Given the description of an element on the screen output the (x, y) to click on. 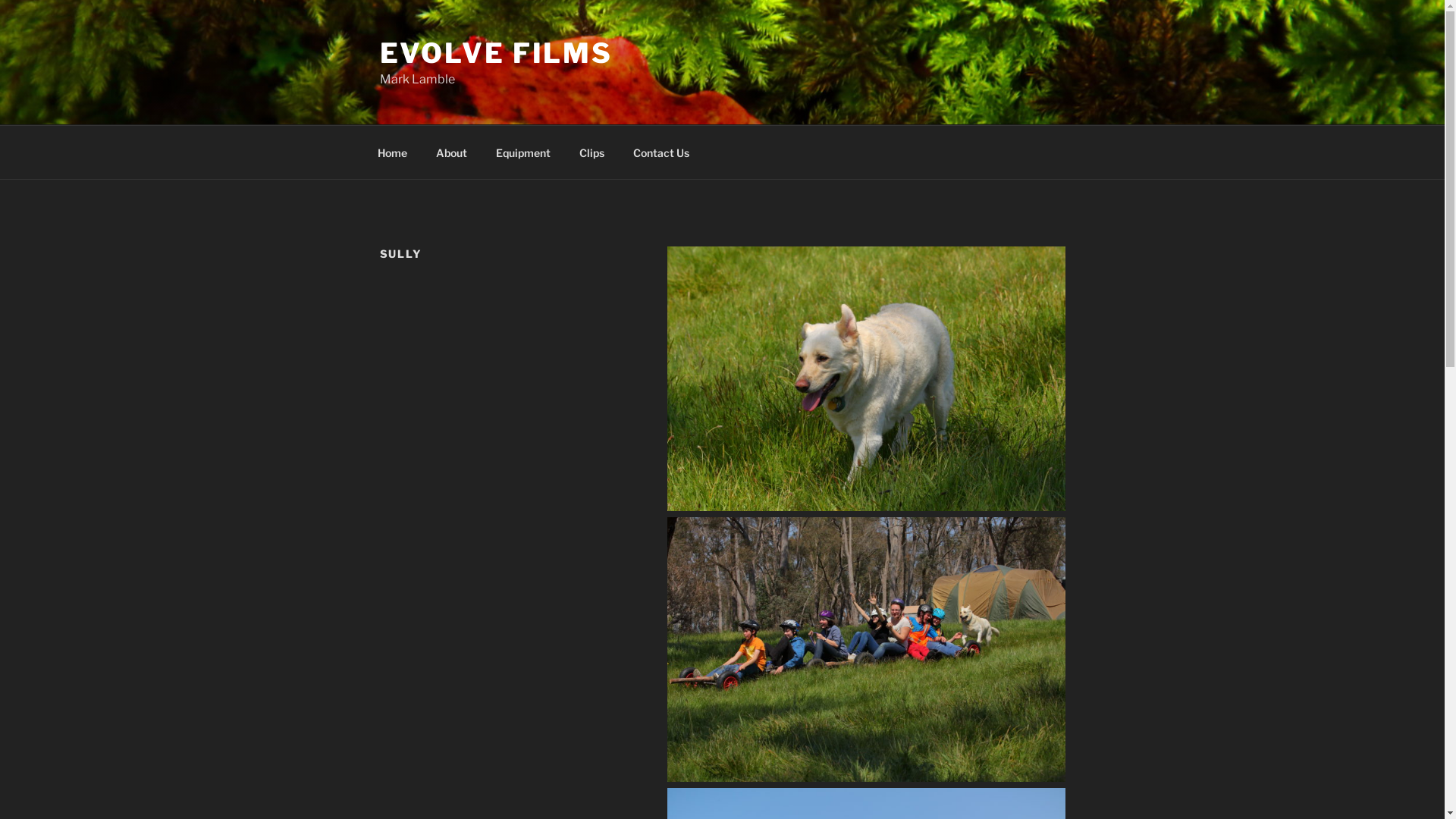
EVOLVE FILMS Element type: text (495, 52)
Home Element type: text (392, 151)
Clips Element type: text (591, 151)
About Element type: text (451, 151)
Equipment Element type: text (522, 151)
Contact Us Element type: text (661, 151)
